Given the description of an element on the screen output the (x, y) to click on. 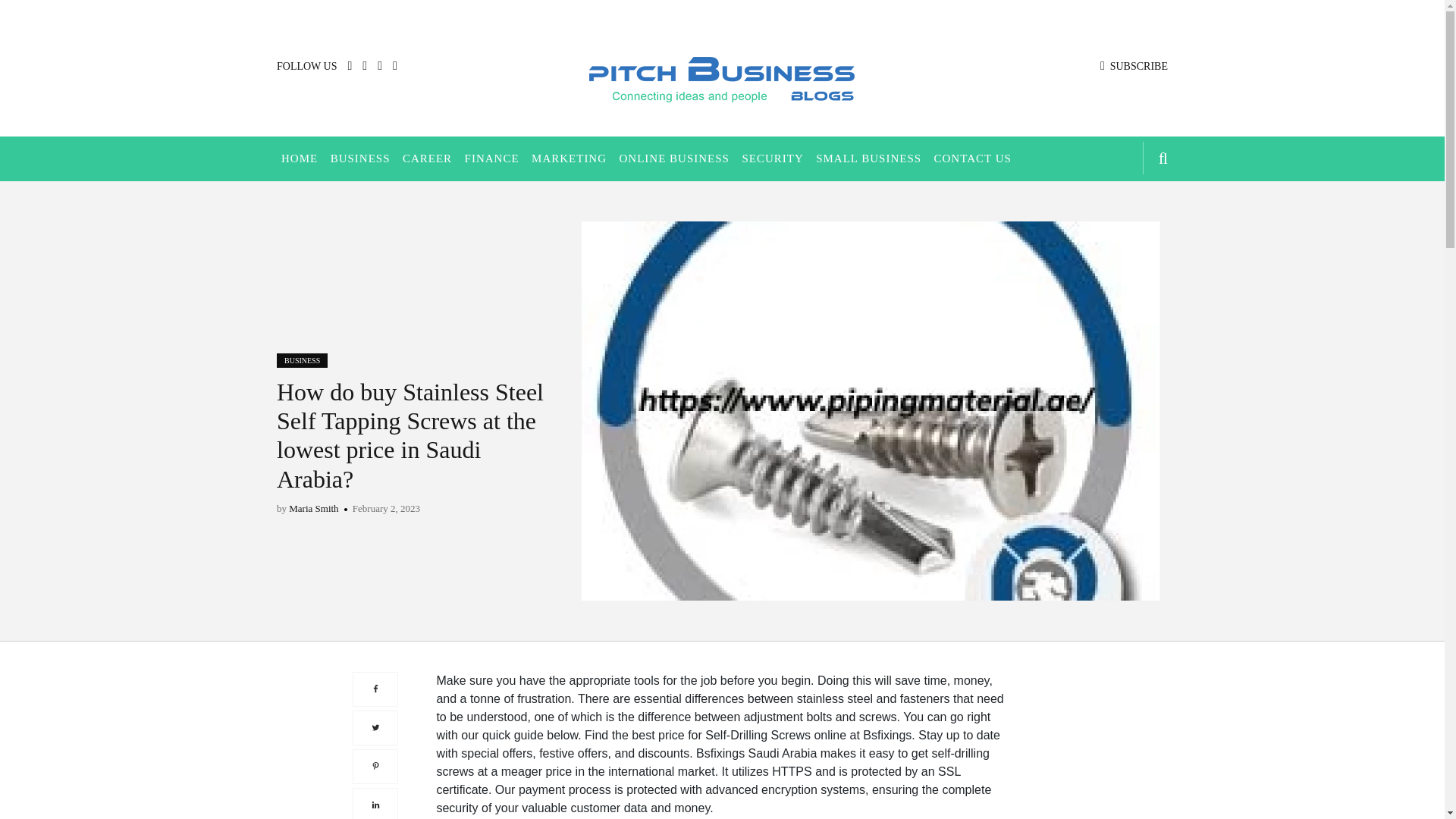
MARKETING (569, 158)
ONLINE BUSINESS (673, 158)
Share via Email (374, 759)
Share on Twitter (374, 643)
HOME (298, 158)
FINANCE (492, 158)
BUSINESS (360, 158)
SMALL BUSINESS (868, 158)
Share on Pinterest (374, 682)
SUBSCRIBE (1133, 66)
Share on Facebook (374, 605)
Share on LinkedIn (374, 720)
BUSINESS (301, 359)
CAREER (427, 158)
SECURITY (772, 158)
